Given the description of an element on the screen output the (x, y) to click on. 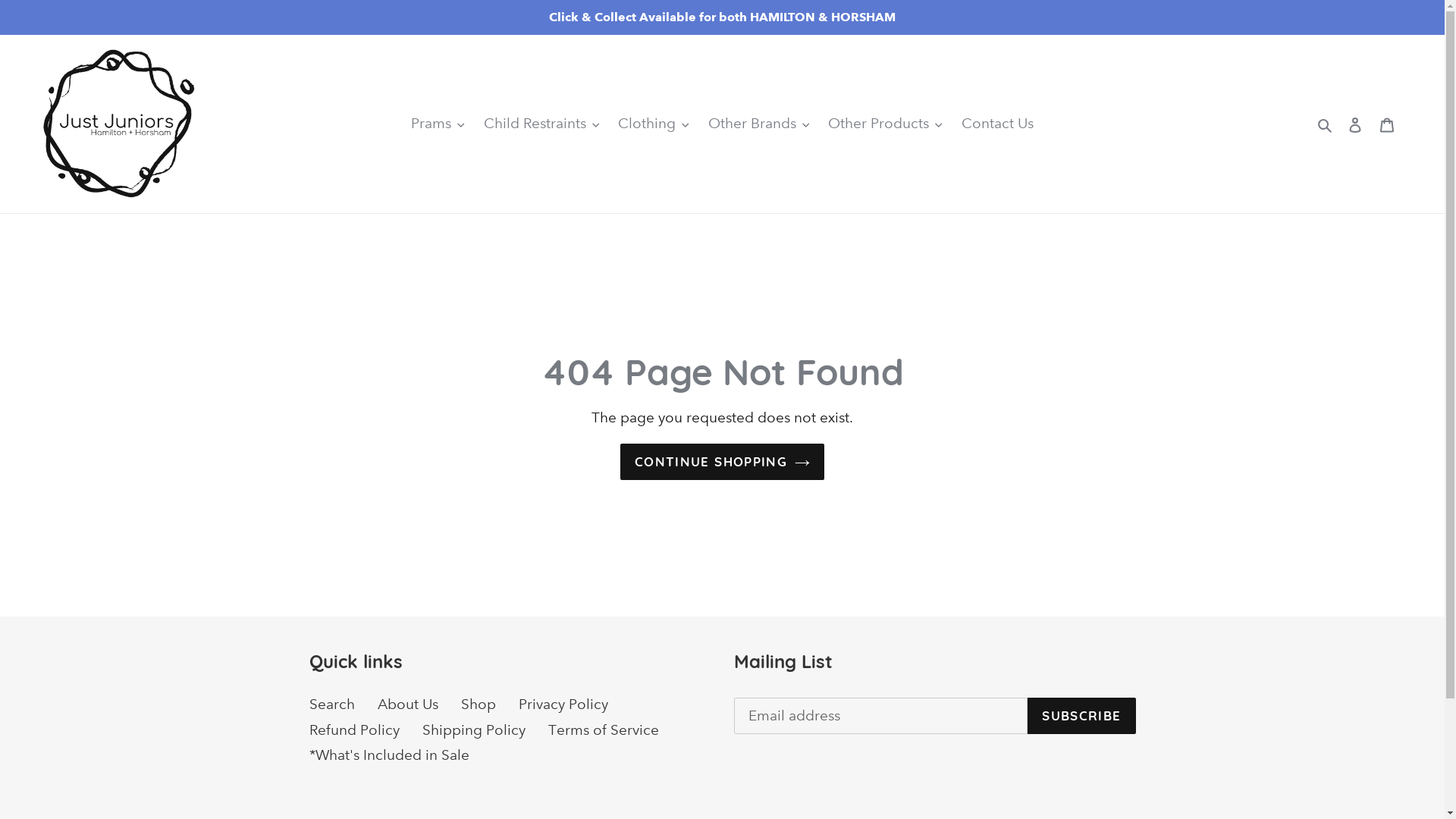
Child Restraints Element type: text (541, 123)
SUBSCRIBE Element type: text (1081, 715)
Search Element type: text (331, 703)
Shipping Policy Element type: text (472, 729)
Terms of Service Element type: text (602, 729)
Search Element type: text (1325, 123)
Cart Element type: text (1386, 123)
*What's Included in Sale Element type: text (389, 754)
Other Brands Element type: text (758, 123)
About Us Element type: text (407, 703)
Other Products Element type: text (885, 123)
Log in Element type: text (1355, 123)
CONTINUE SHOPPING Element type: text (722, 461)
Shop Element type: text (478, 703)
Clothing Element type: text (653, 123)
Refund Policy Element type: text (354, 729)
Prams Element type: text (437, 123)
Contact Us Element type: text (997, 123)
Privacy Policy Element type: text (563, 703)
